Given the description of an element on the screen output the (x, y) to click on. 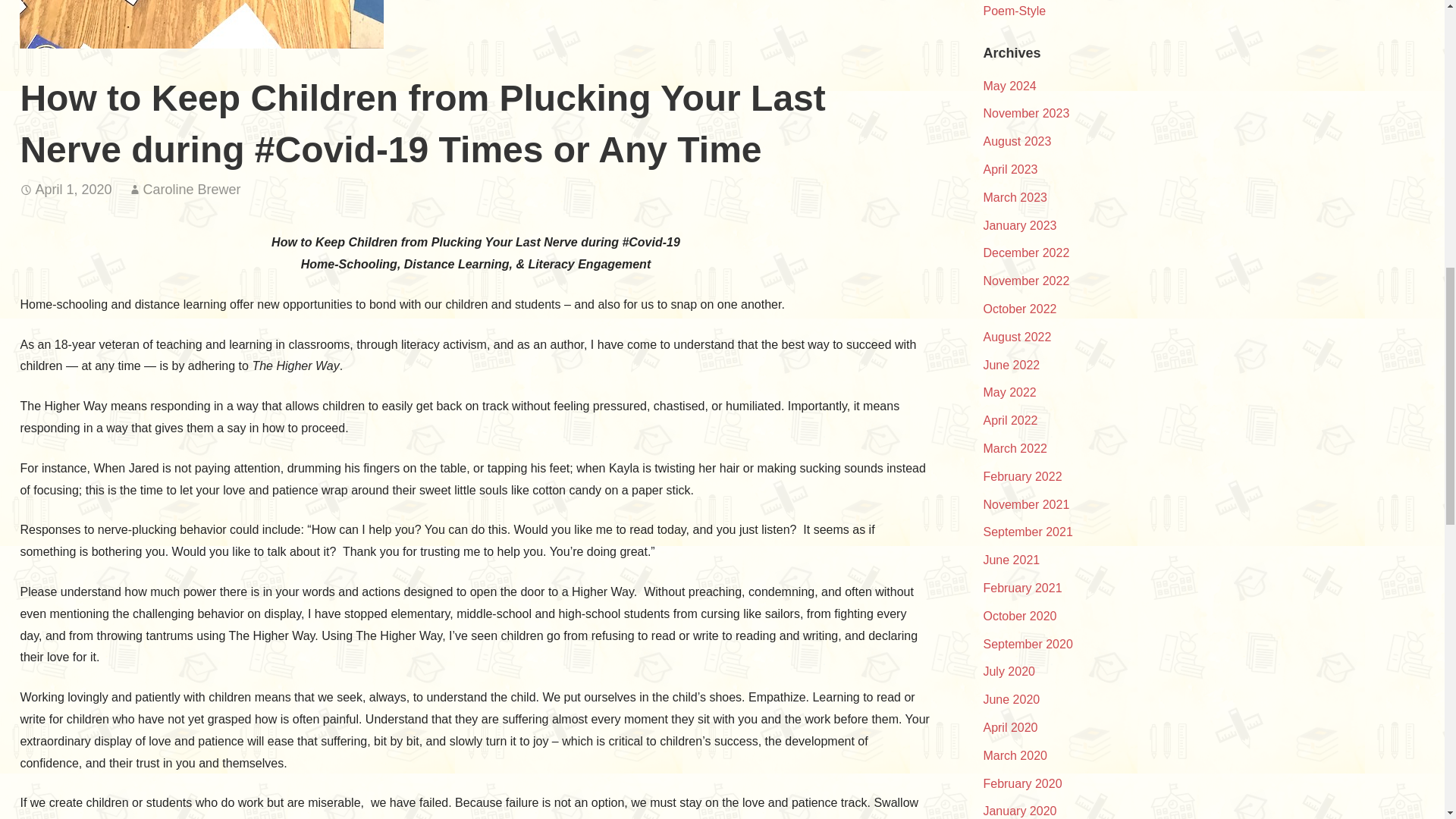
Caroline Brewer (191, 189)
Posts by Caroline Brewer (191, 189)
